Given the description of an element on the screen output the (x, y) to click on. 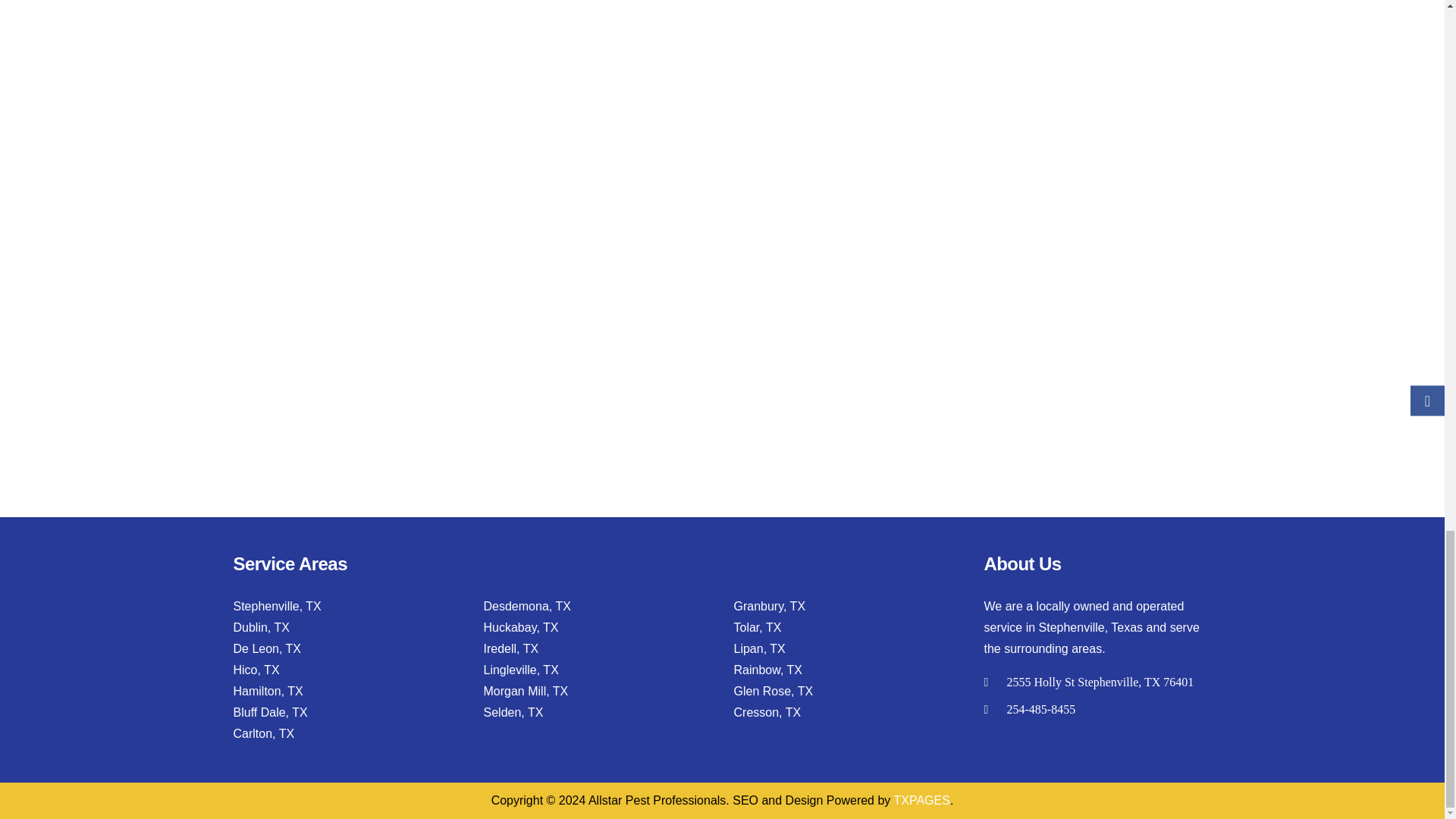
2555 Holly St Stephenville, TX 76401 (1100, 681)
254-485-8455 (1041, 708)
TXPAGES (921, 799)
